Given the description of an element on the screen output the (x, y) to click on. 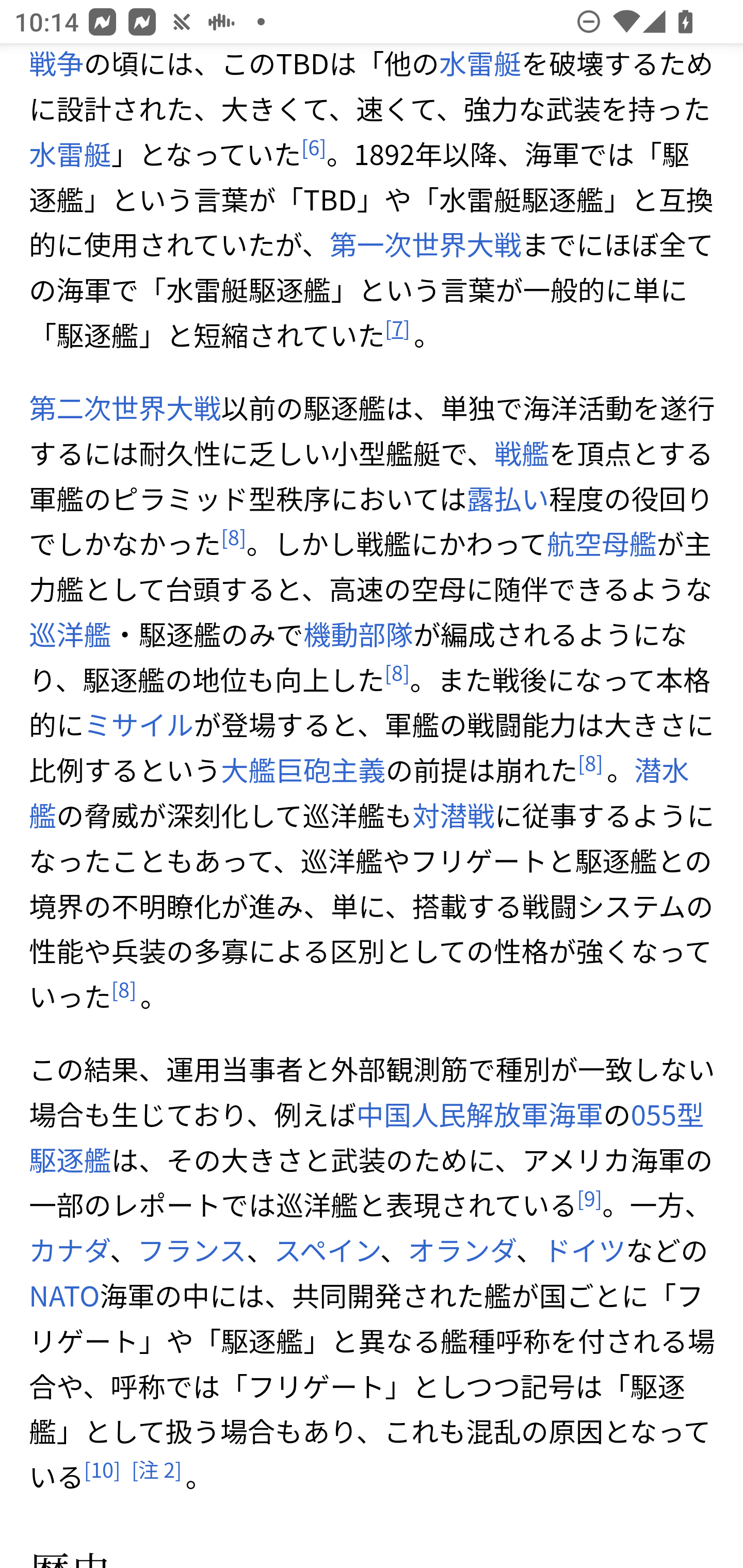
日露戦争 (359, 63)
水雷艇 (478, 63)
[] [ 6 ] (312, 147)
水雷艇 (70, 154)
第一次世界大戦 (424, 244)
[] [ 7 ] (396, 328)
第二次世界大戦 (125, 407)
戦艦 (521, 453)
露払い (507, 499)
[] [ 8 ] (233, 536)
航空母艦 (601, 543)
巡洋艦 (70, 634)
機動部隊 (357, 634)
[] [ 8 ] (396, 672)
ミサイル (138, 724)
[] [ 8 ] (589, 763)
潜水艦 (358, 792)
大艦巨砲主義 (303, 769)
対潜戦 (452, 814)
[] [ 8 ] (123, 990)
055型駆逐艦 (366, 1137)
中国人民解放軍海軍 (479, 1114)
[] [ 9 ] (589, 1198)
カナダ (68, 1250)
フランス (192, 1250)
スペイン (326, 1250)
オランダ (461, 1250)
ドイツ (583, 1250)
NATO (64, 1294)
[] [ 10 ] (101, 1469)
[注 ] [注  2 ] (156, 1469)
